Given the description of an element on the screen output the (x, y) to click on. 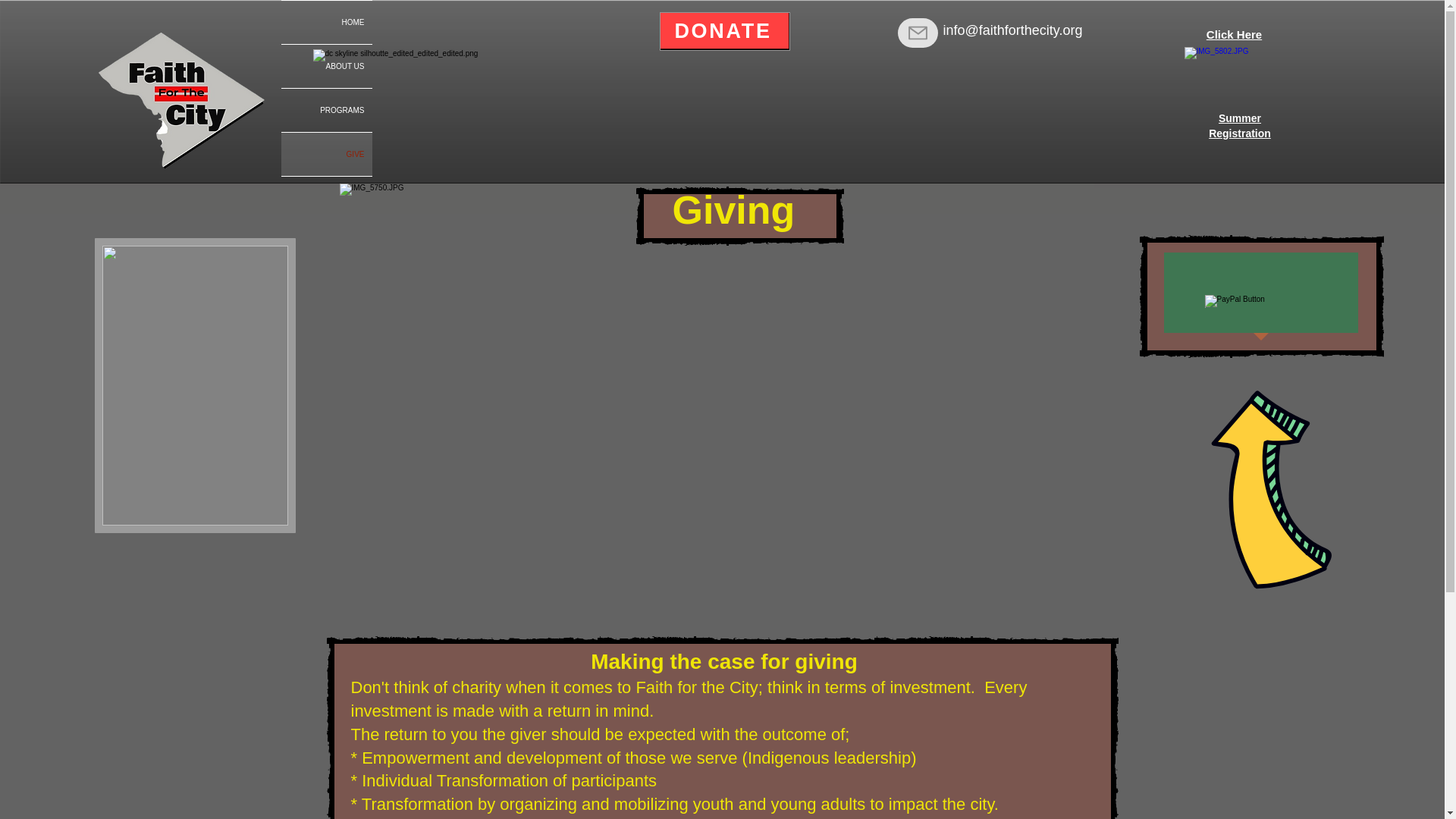
DONATE (724, 31)
HOME (326, 22)
ABOUT US (326, 66)
GIVE (326, 154)
PROGRAMS (1239, 125)
Click Here (326, 109)
